Given the description of an element on the screen output the (x, y) to click on. 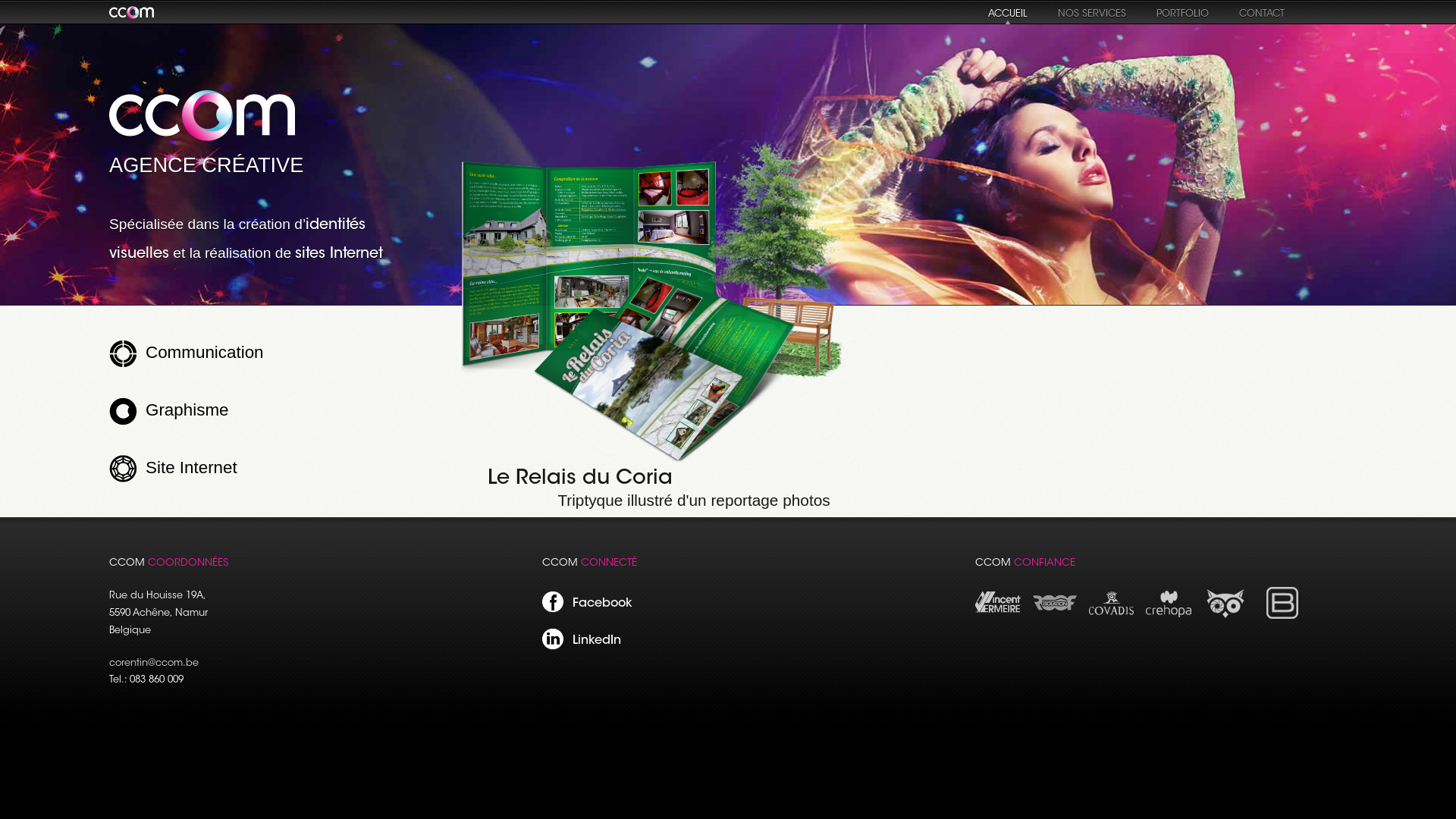
Vermeire sa Element type: hover (997, 622)
Crehopa Element type: hover (1168, 622)
Expos Photos & d'Art Animalier Element type: hover (1225, 622)
ACCUEIL Element type: text (1007, 17)
CONTACT Element type: text (1261, 13)
Facebook Element type: text (552, 602)
LinkedIn Element type: text (552, 639)
corentin@ccom.be Element type: text (153, 663)
Covadis Element type: hover (1111, 622)
Roof Isolation Element type: hover (1054, 622)
Retour a l'accueil Element type: hover (131, 12)
CCOM Element type: hover (201, 115)
PORTFOLIO Element type: text (1182, 13)
La Bricole Element type: hover (1282, 622)
NOS SERVICES Element type: text (1091, 13)
